Given the description of an element on the screen output the (x, y) to click on. 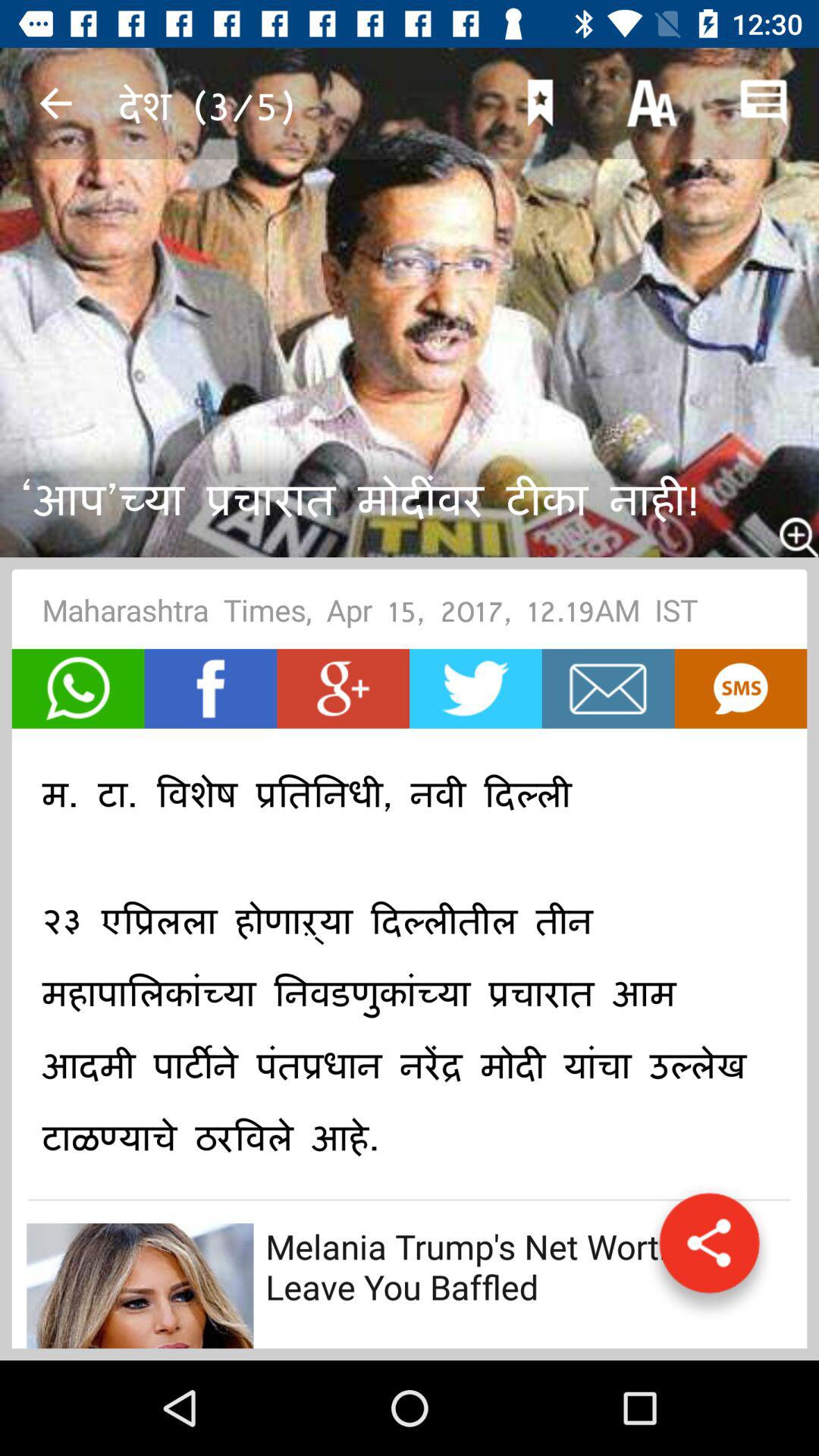
share the article (77, 688)
